Given the description of an element on the screen output the (x, y) to click on. 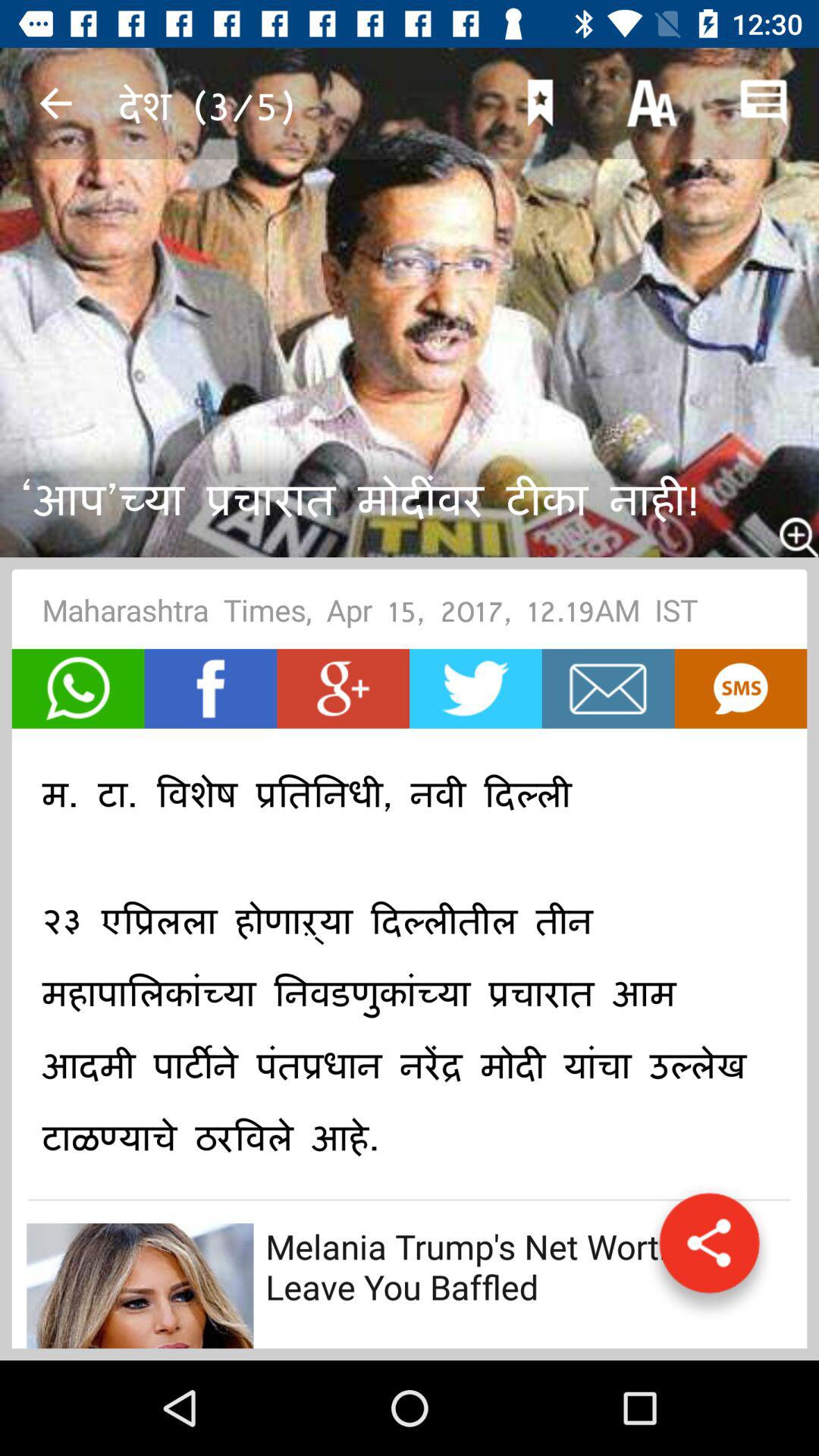
share the article (77, 688)
